Given the description of an element on the screen output the (x, y) to click on. 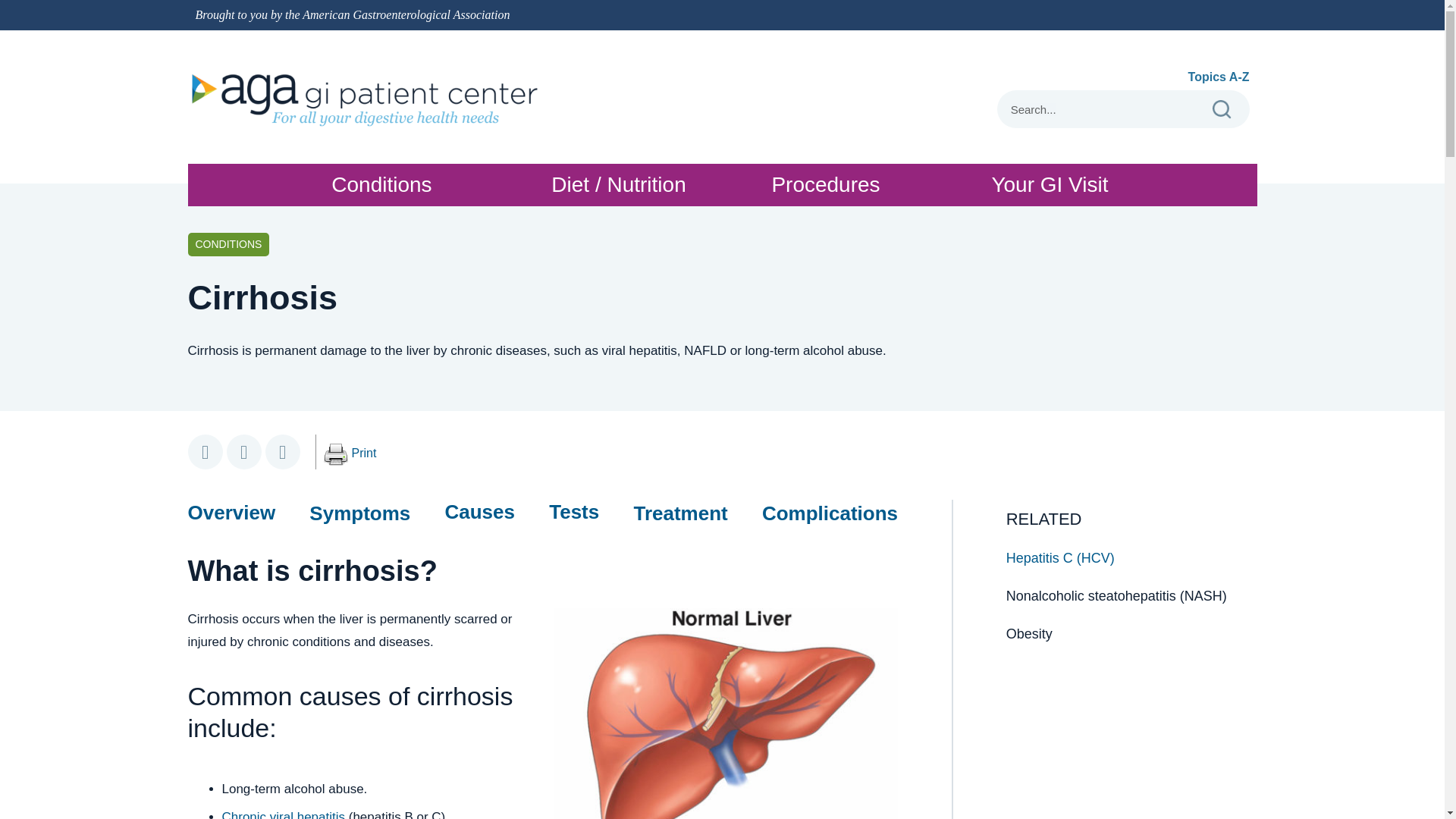
Topics A-Z (1218, 76)
Search (1221, 108)
Search (364, 453)
